Given the description of an element on the screen output the (x, y) to click on. 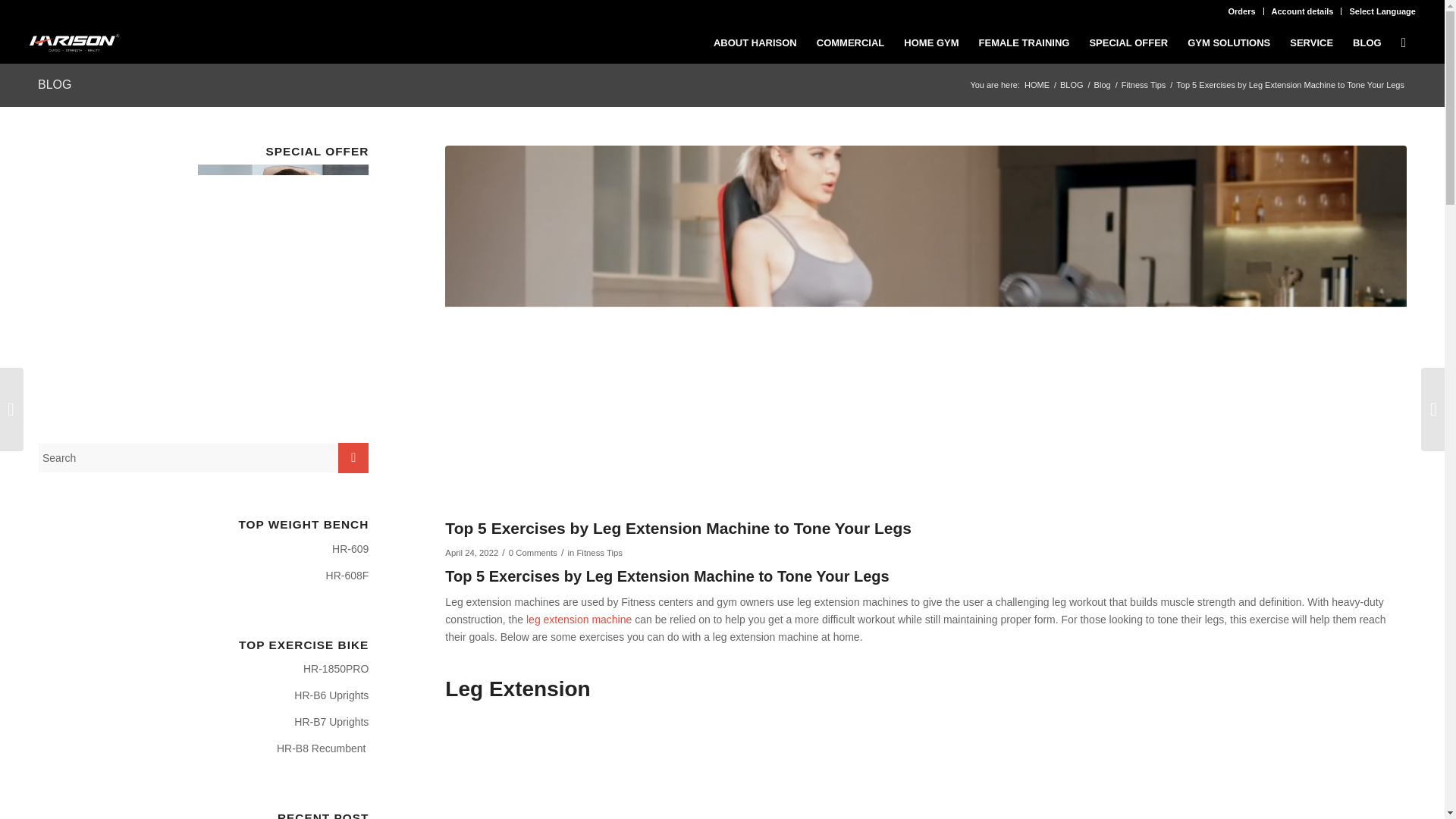
HOME GYM (930, 42)
HOME (1036, 84)
Permanent Link: BLOG (54, 83)
Orders (1241, 11)
ABOUT HARISON (754, 42)
HARISON Back to Home (74, 42)
Account details (1302, 11)
COMMERCIAL (850, 42)
Select Language (1382, 11)
BLOG (1072, 84)
